Given the description of an element on the screen output the (x, y) to click on. 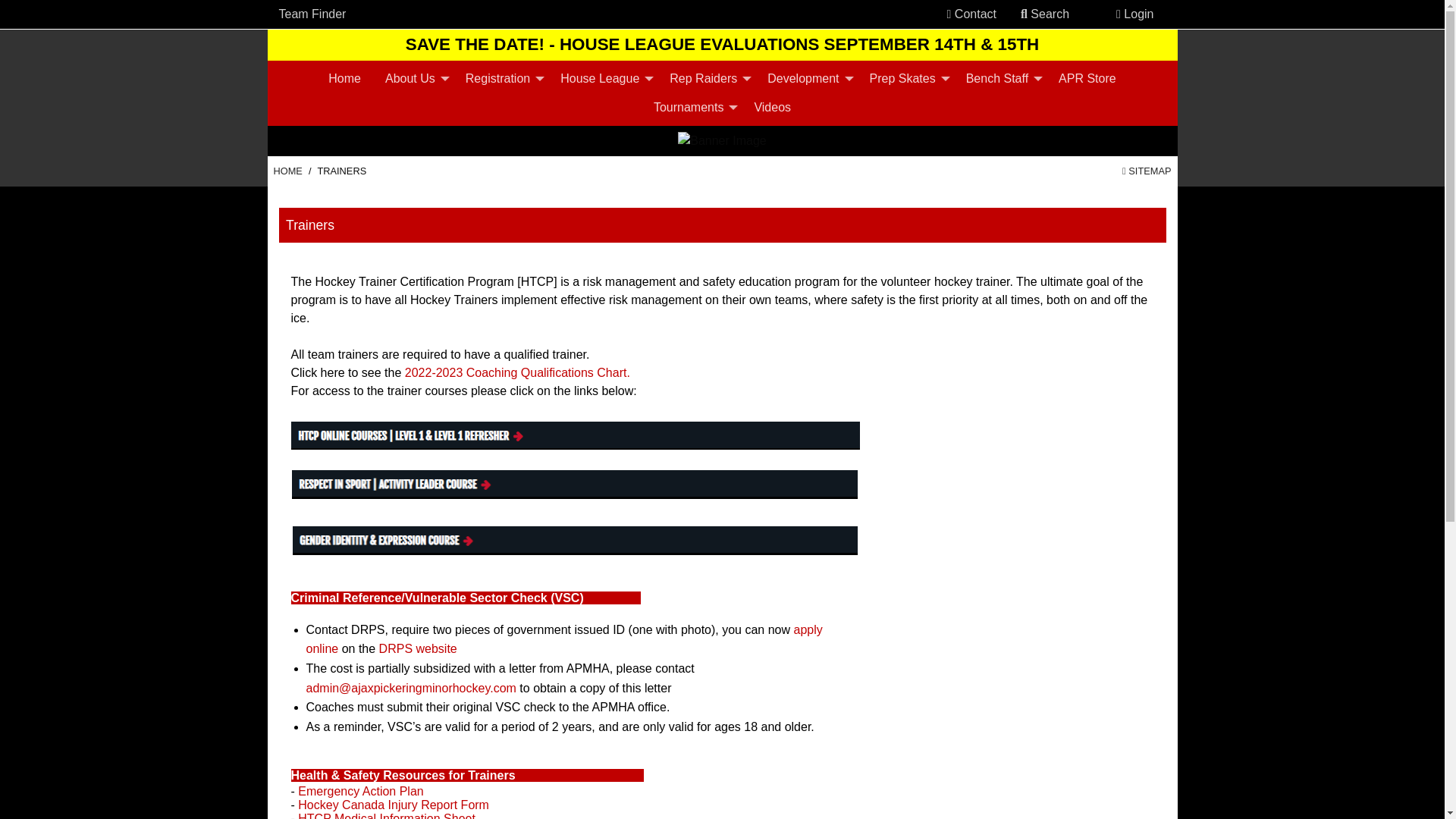
Home (343, 77)
Team Finder (312, 13)
 Login (1134, 14)
Go to the sitemap page for this website (1146, 170)
 Contact (971, 14)
House League (603, 77)
Registration (500, 77)
About Us (412, 77)
Main Home Page (287, 170)
 Search (1045, 14)
